Given the description of an element on the screen output the (x, y) to click on. 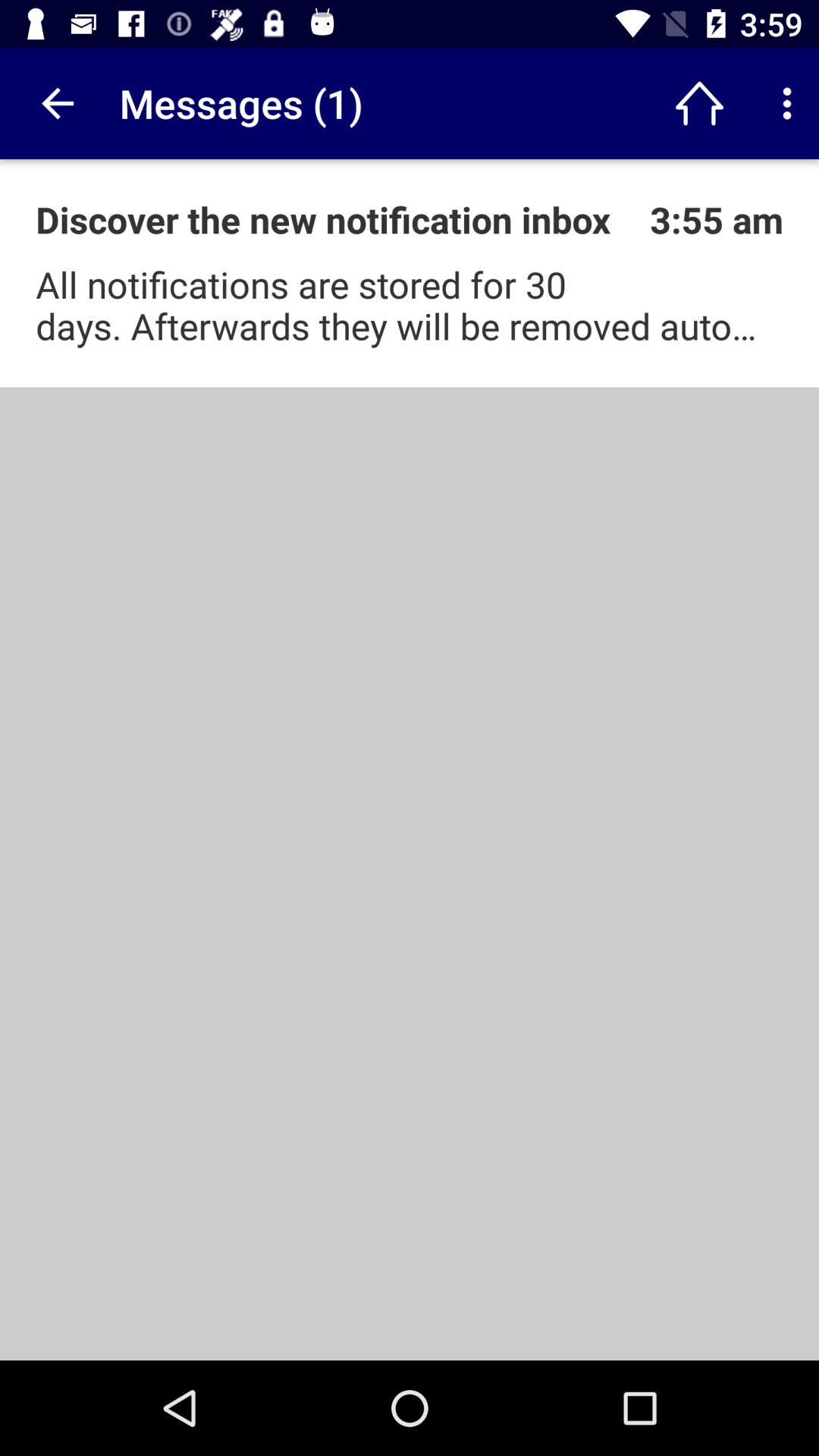
turn off app to the right of the messages (1) icon (699, 103)
